Given the description of an element on the screen output the (x, y) to click on. 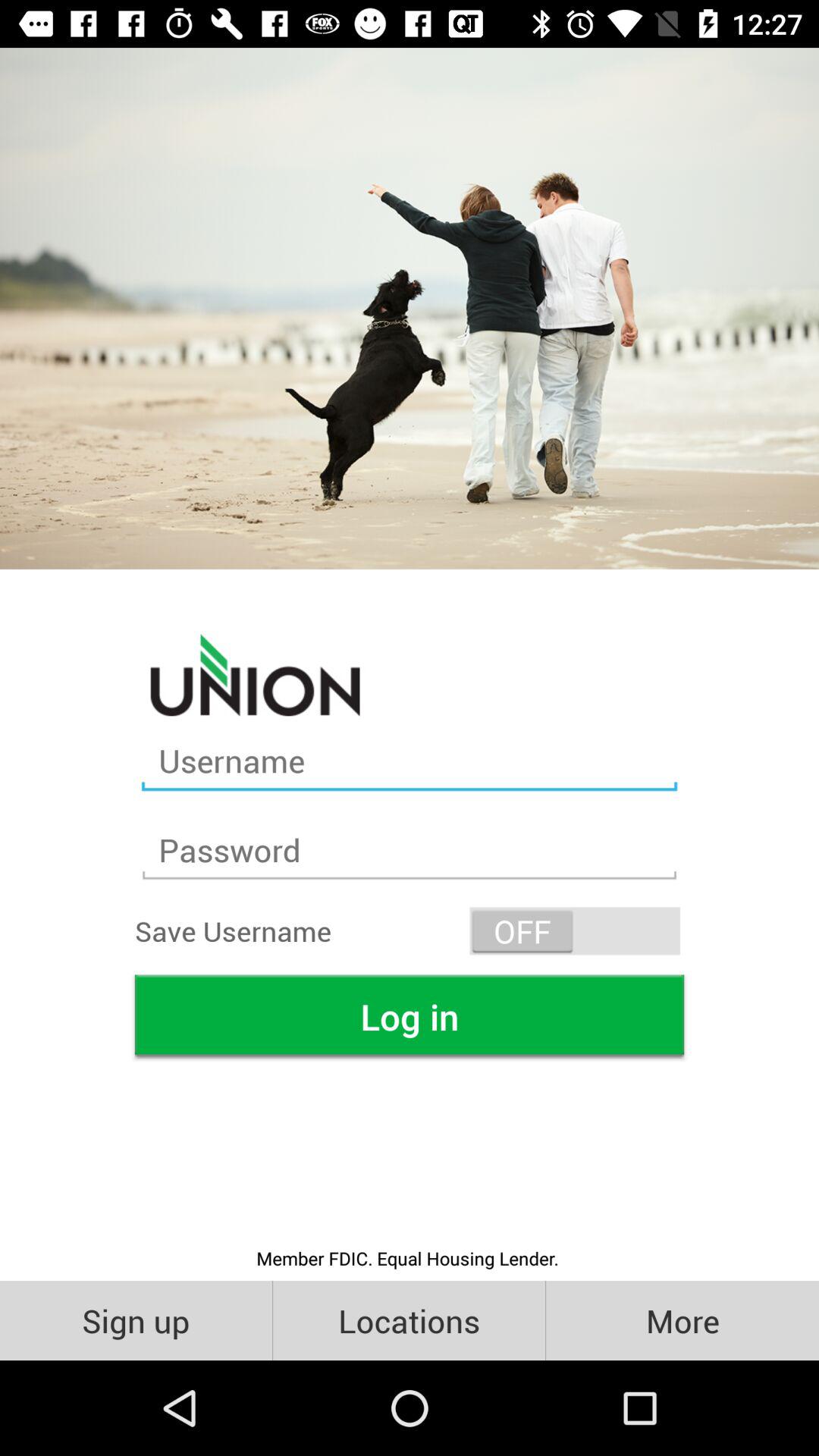
select sign up item (136, 1320)
